Given the description of an element on the screen output the (x, y) to click on. 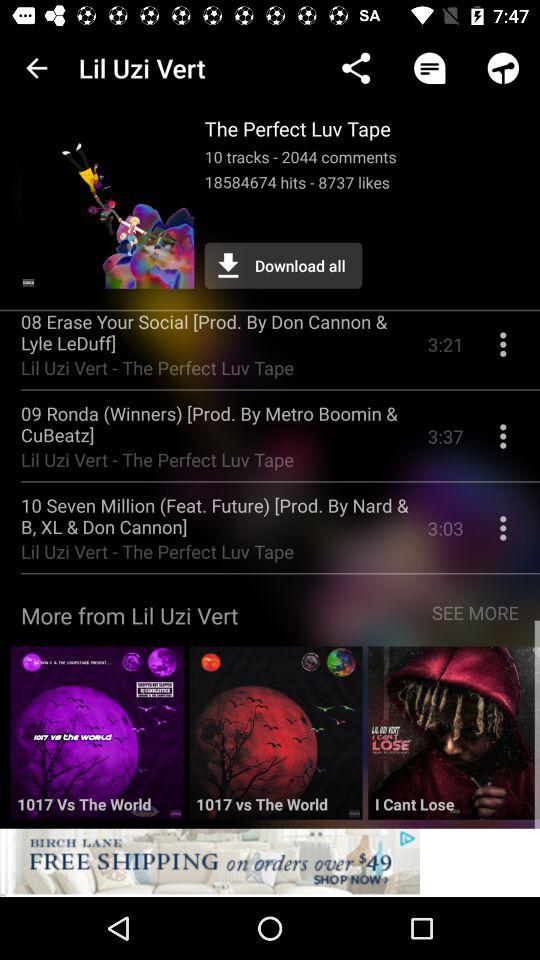
choose the icon to the right of the lil uzi vert app (356, 67)
